Given the description of an element on the screen output the (x, y) to click on. 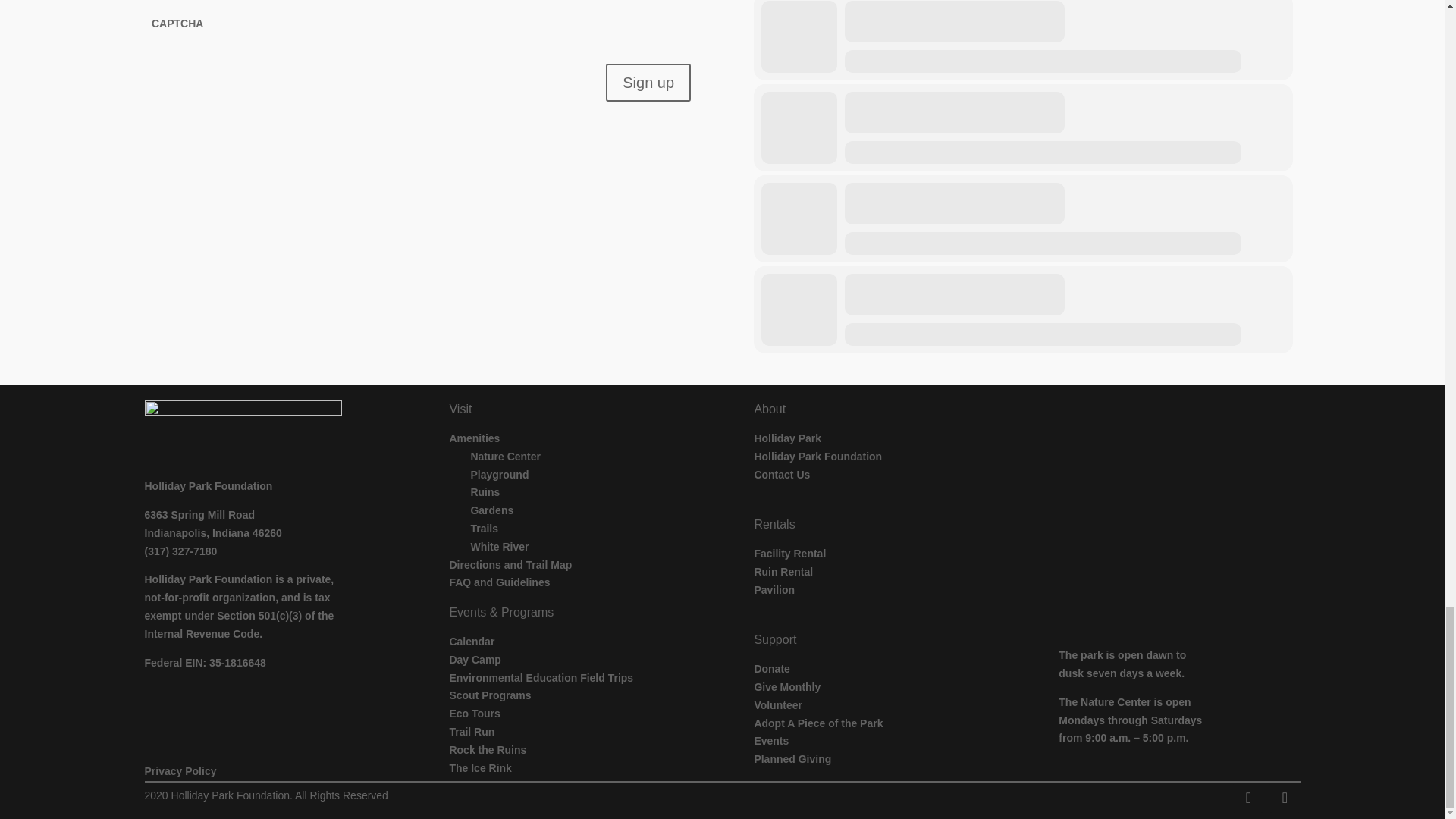
Sign up (647, 82)
